Given the description of an element on the screen output the (x, y) to click on. 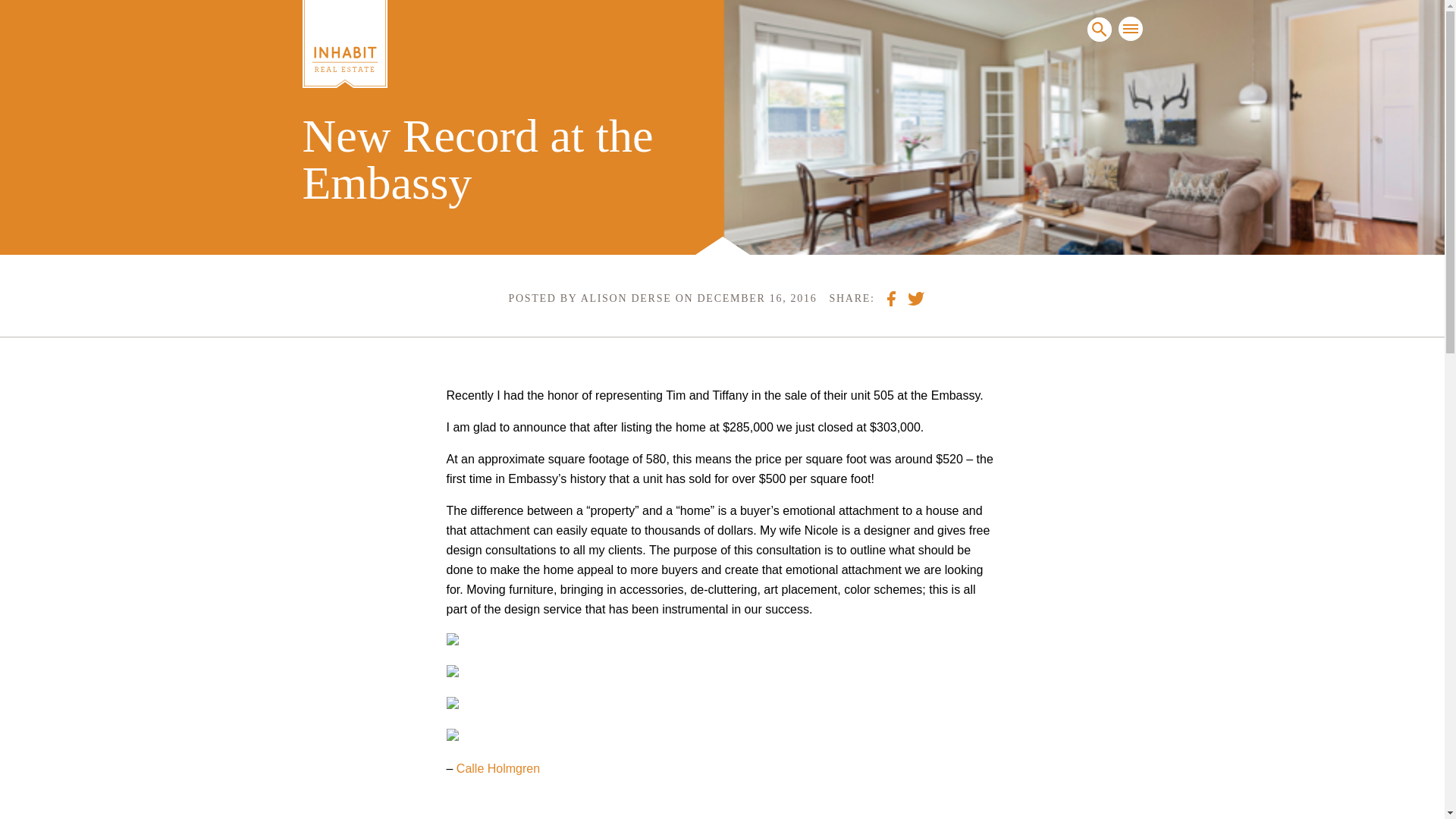
Calle Holmgren (498, 768)
